Given the description of an element on the screen output the (x, y) to click on. 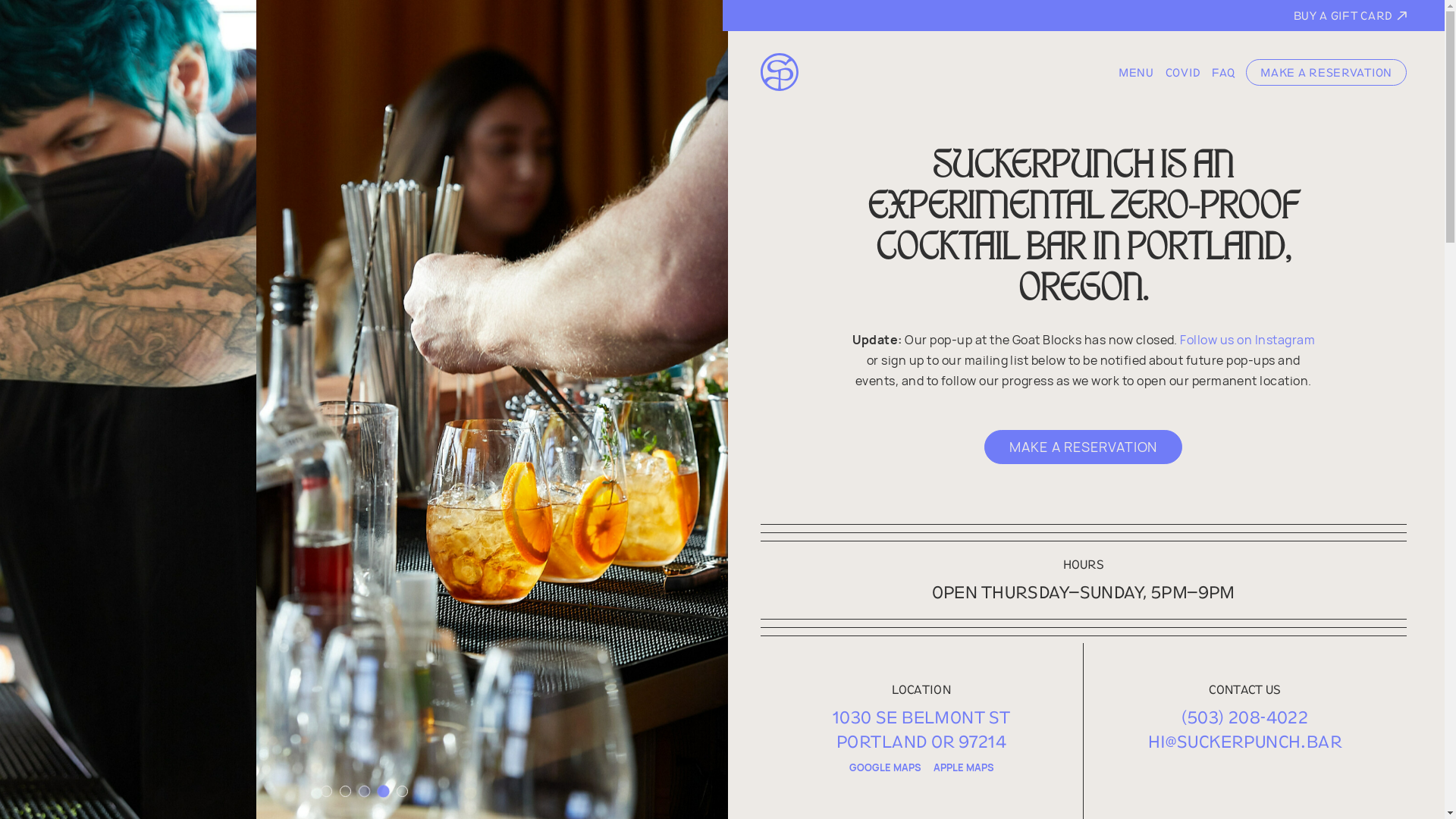
HI@SUCKERPUNCH.BAR Element type: text (1245, 741)
1030 SE BELMONT ST
PORTLAND OR 97214 Element type: text (921, 729)
Follow us on Instagram Element type: text (1246, 339)
(503) 208-4022 Element type: text (1244, 717)
GOOGLE MAPS Element type: text (885, 768)
BUY A GIFT CARD Element type: text (1082, 15)
FAQ Element type: text (1222, 71)
Covid Element type: text (1183, 71)
MAKE A RESERVATION Element type: text (1325, 72)
Menu Element type: text (1136, 71)
MAKE A RESERVATION Element type: text (1083, 446)
APPLE MAPS Element type: text (963, 768)
